Given the description of an element on the screen output the (x, y) to click on. 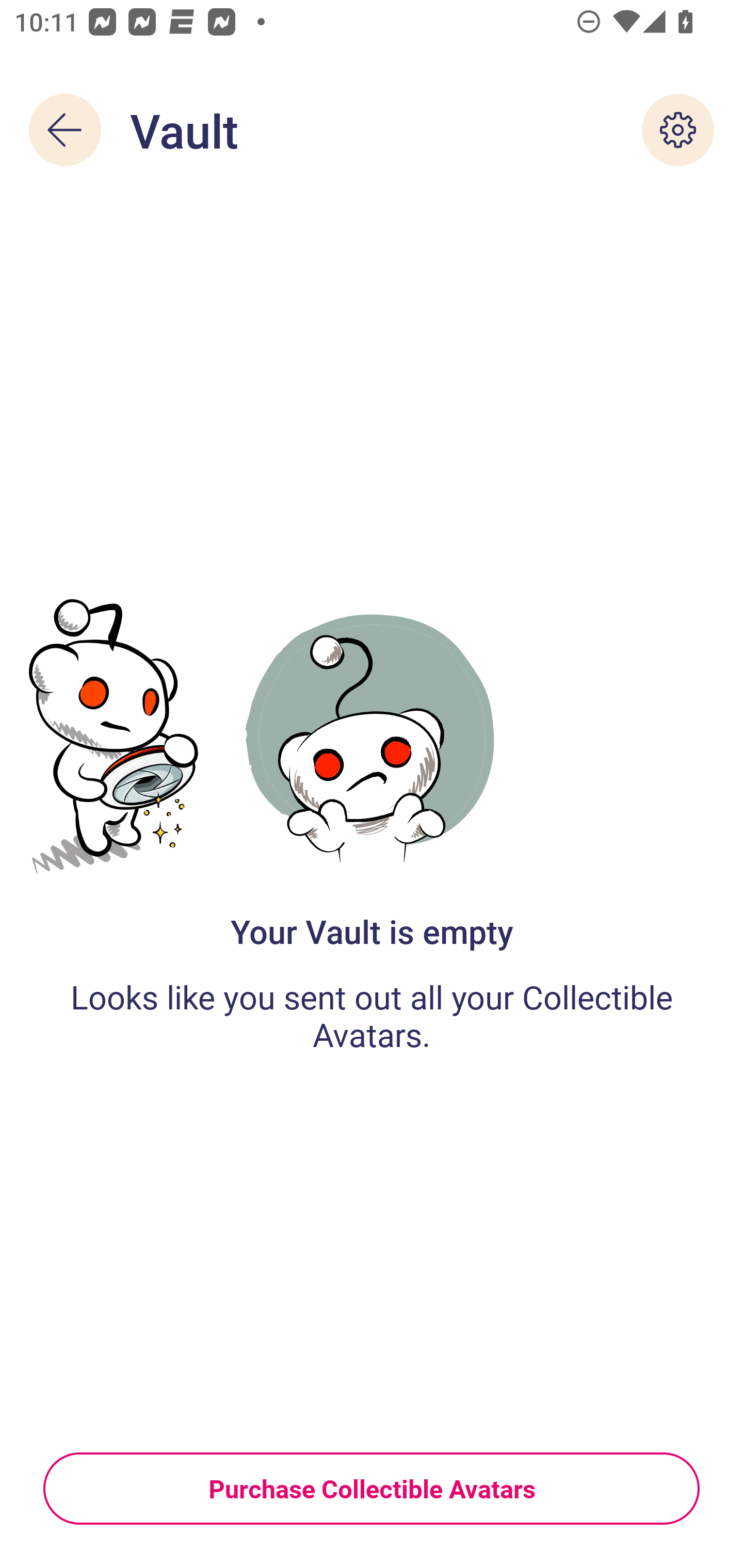
Back (64, 130)
Settings (677, 130)
Purchase Collectible Avatars (371, 1487)
